Given the description of an element on the screen output the (x, y) to click on. 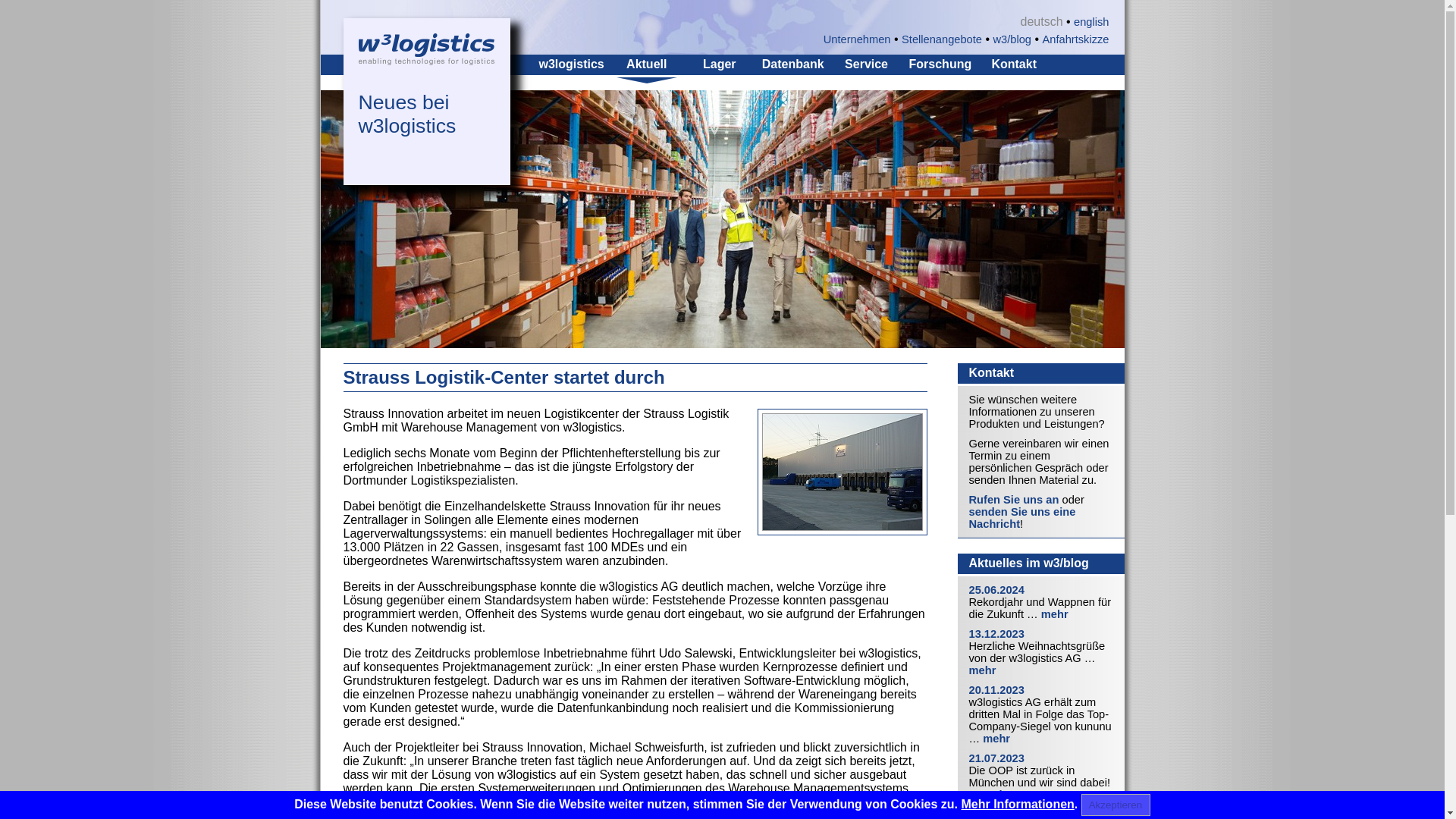
english (1091, 21)
Datenbank (792, 64)
Stellenangebote (941, 39)
w3logistics (571, 64)
Service (865, 64)
Anfahrtskizze (1075, 39)
Aktuell (646, 64)
Unternehmen (857, 39)
Forschung (940, 64)
Mehr Informationen (1017, 803)
Lager (718, 64)
